Given the description of an element on the screen output the (x, y) to click on. 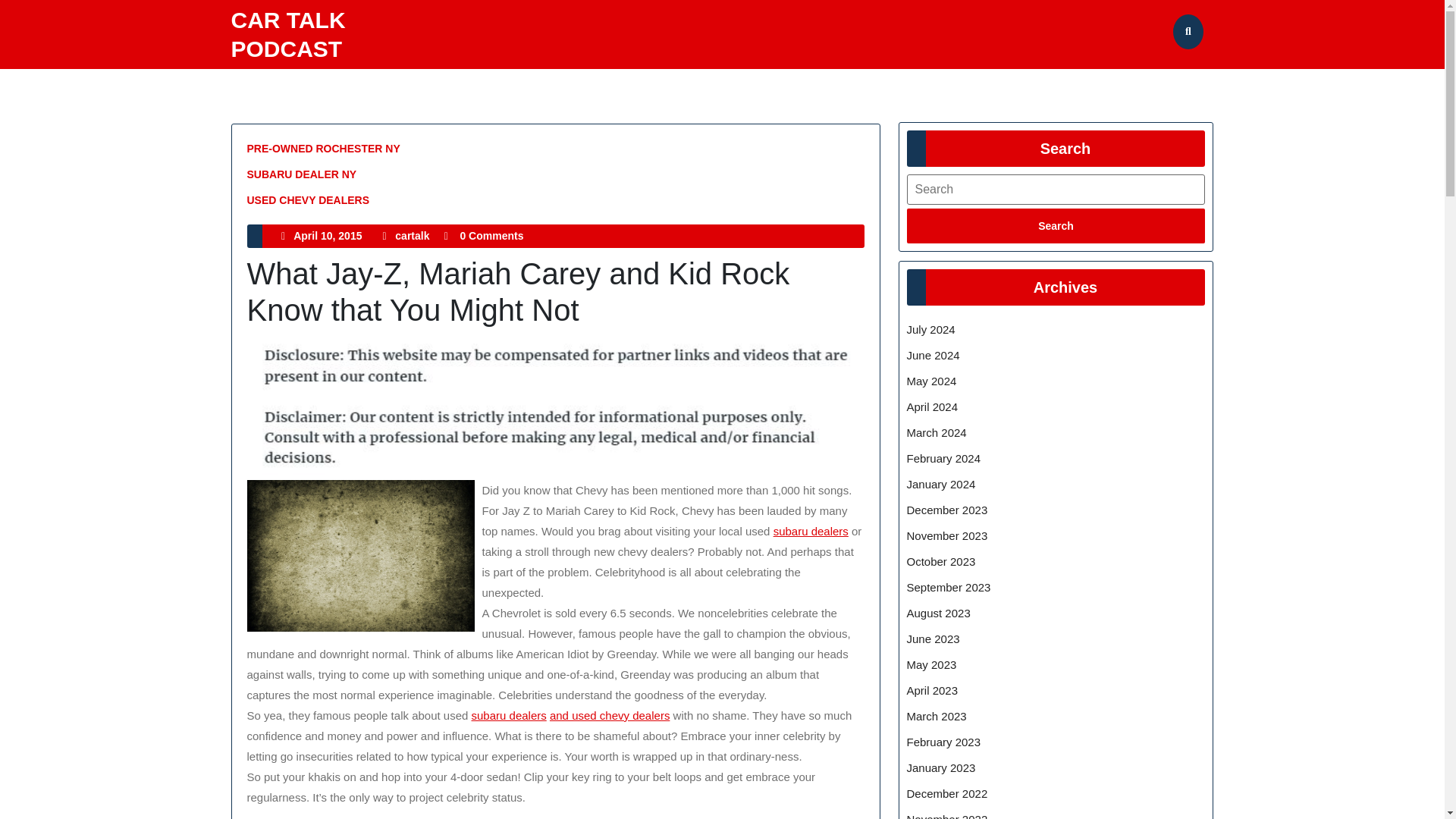
August 2023 (939, 612)
For the real scoop on Subaru ny (810, 530)
New chevy dealer (609, 715)
February 2024 (944, 458)
September 2023 (949, 586)
CAR TALK PODCAST (287, 34)
April 2024 (932, 406)
USED CHEVY DEALERS (308, 201)
and used chevy dealers (609, 715)
Search (1056, 225)
Get more related to Pre-owned rochester ny (509, 715)
PRE-OWNED ROCHESTER NY (323, 149)
May 2024 (931, 380)
subaru dealers (411, 235)
